Given the description of an element on the screen output the (x, y) to click on. 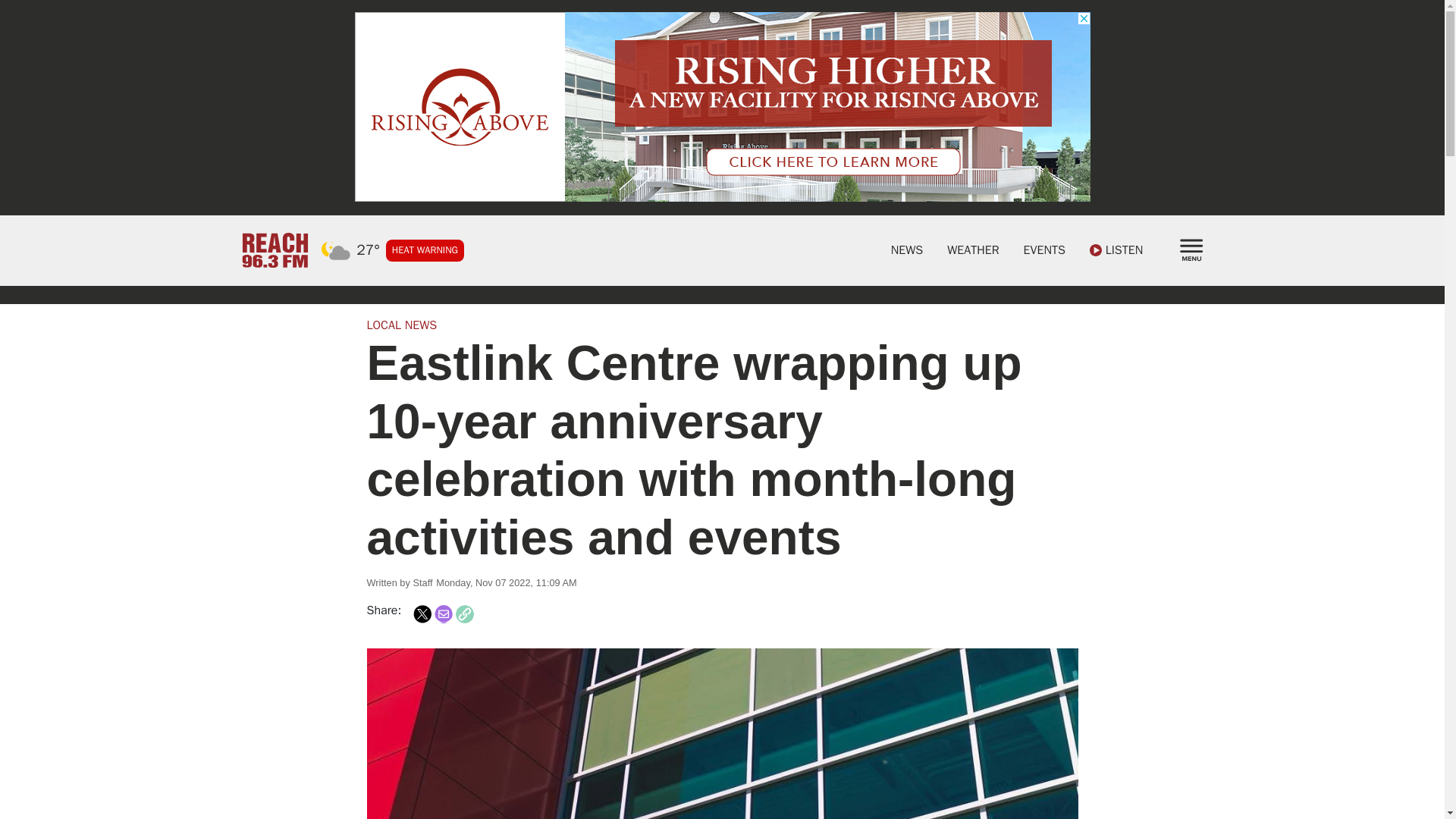
Copy Link (464, 614)
Share to Email (442, 614)
